Given the description of an element on the screen output the (x, y) to click on. 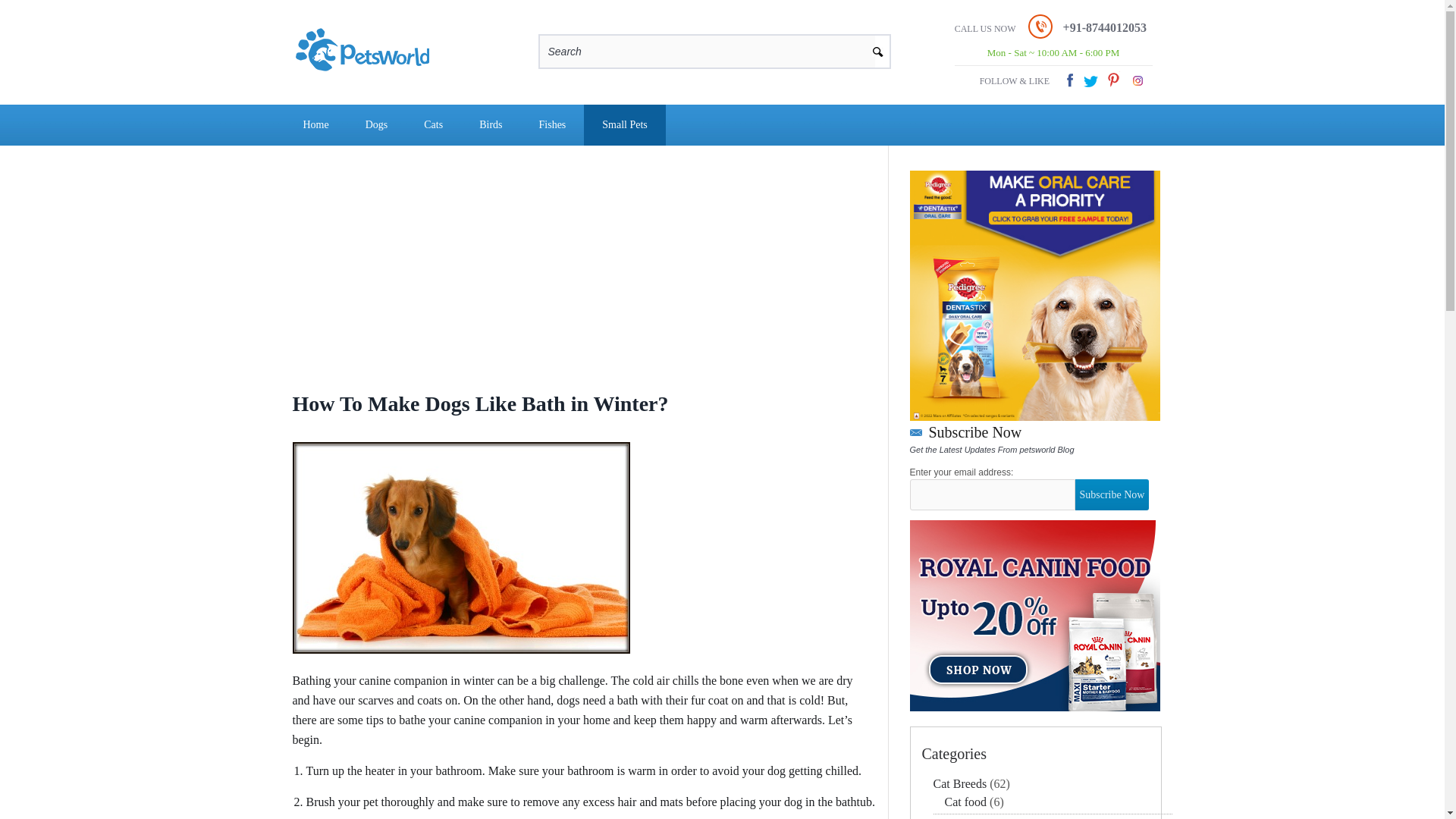
Fishes (553, 124)
search (883, 48)
search (883, 48)
subscribe Now (1112, 494)
Search (707, 51)
Dogs (376, 124)
Small Pets (624, 124)
search (883, 48)
Home (316, 124)
Cats (433, 124)
